Given the description of an element on the screen output the (x, y) to click on. 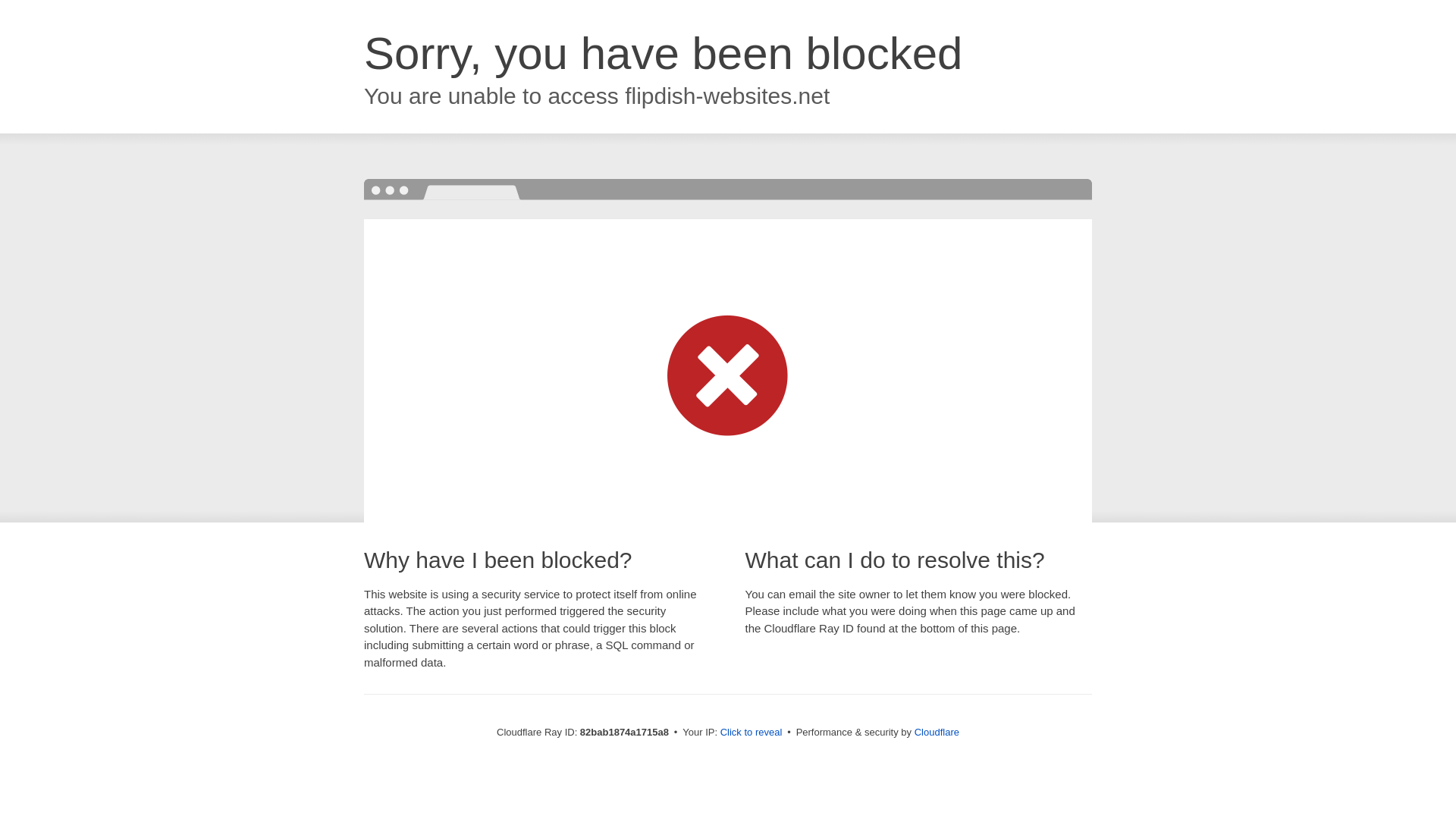
Click to reveal Element type: text (751, 732)
Cloudflare Element type: text (936, 731)
